Given the description of an element on the screen output the (x, y) to click on. 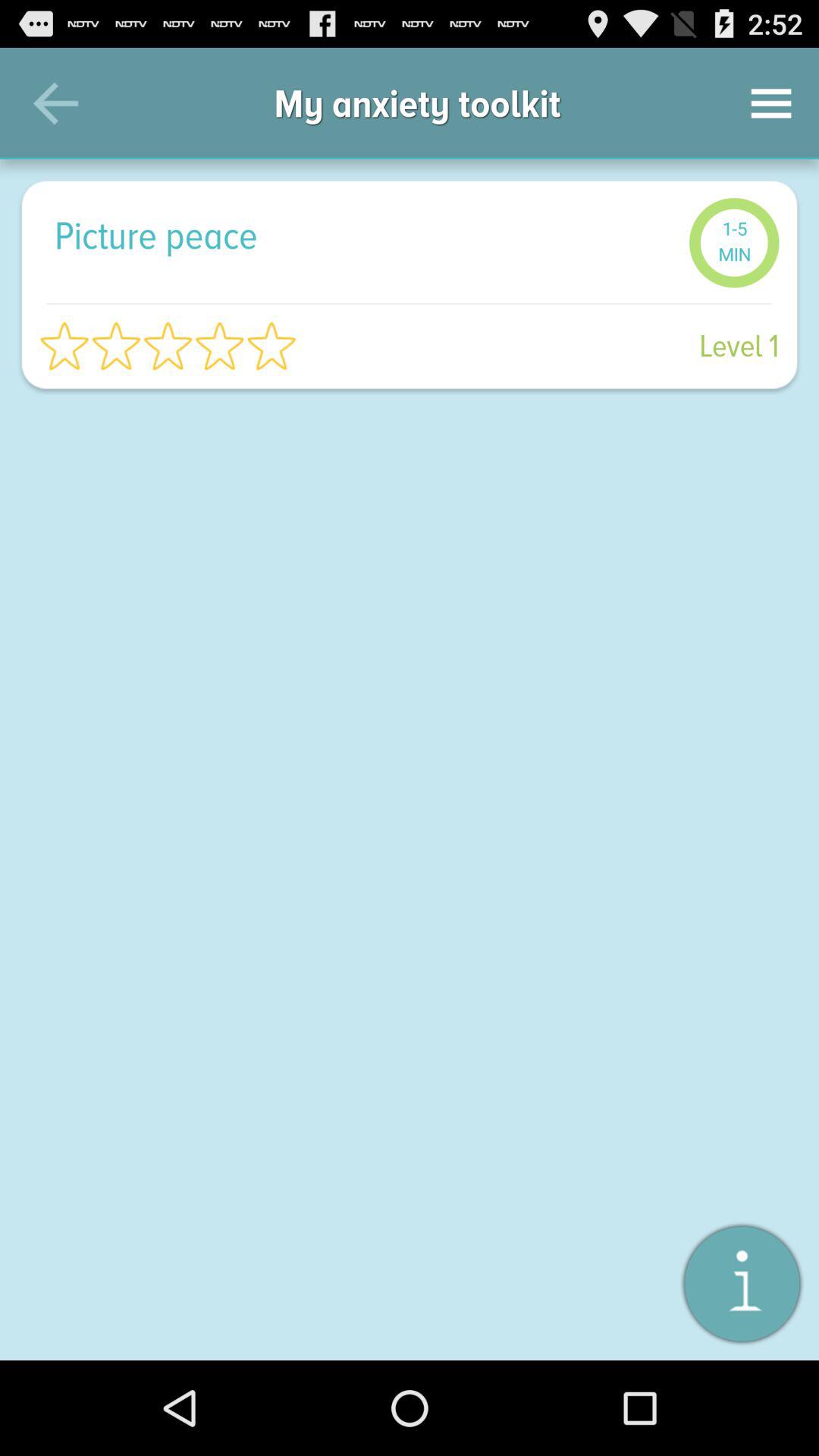
turn off the item next to picture peace item (734, 242)
